Given the description of an element on the screen output the (x, y) to click on. 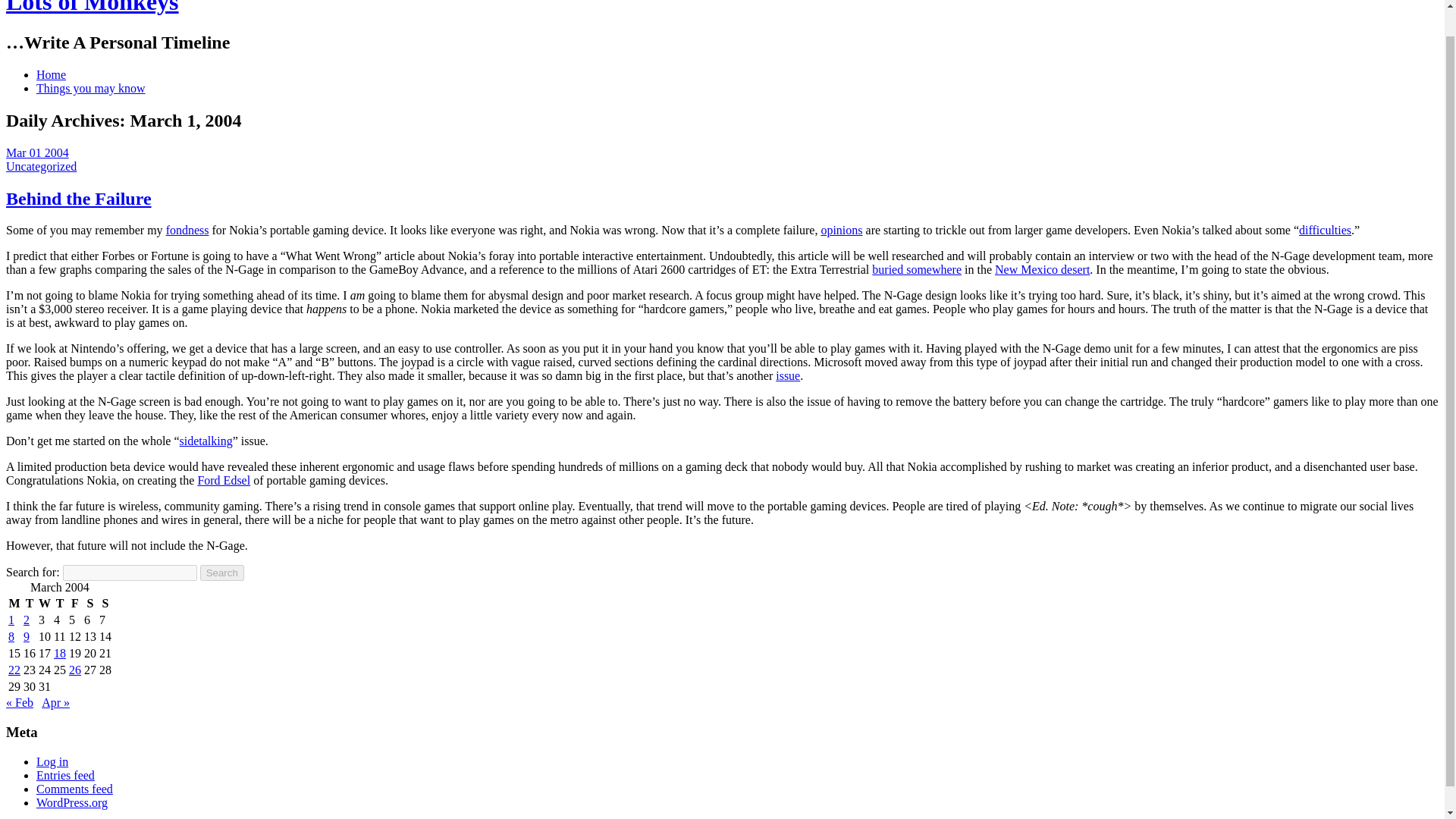
26 (74, 669)
Things you may know (90, 88)
sidetalking (205, 440)
buried somewhere (916, 269)
Entries feed (65, 775)
Thursday (59, 603)
fondness (187, 229)
Comments feed (74, 788)
18 (59, 653)
Tuesday (29, 603)
